Given the description of an element on the screen output the (x, y) to click on. 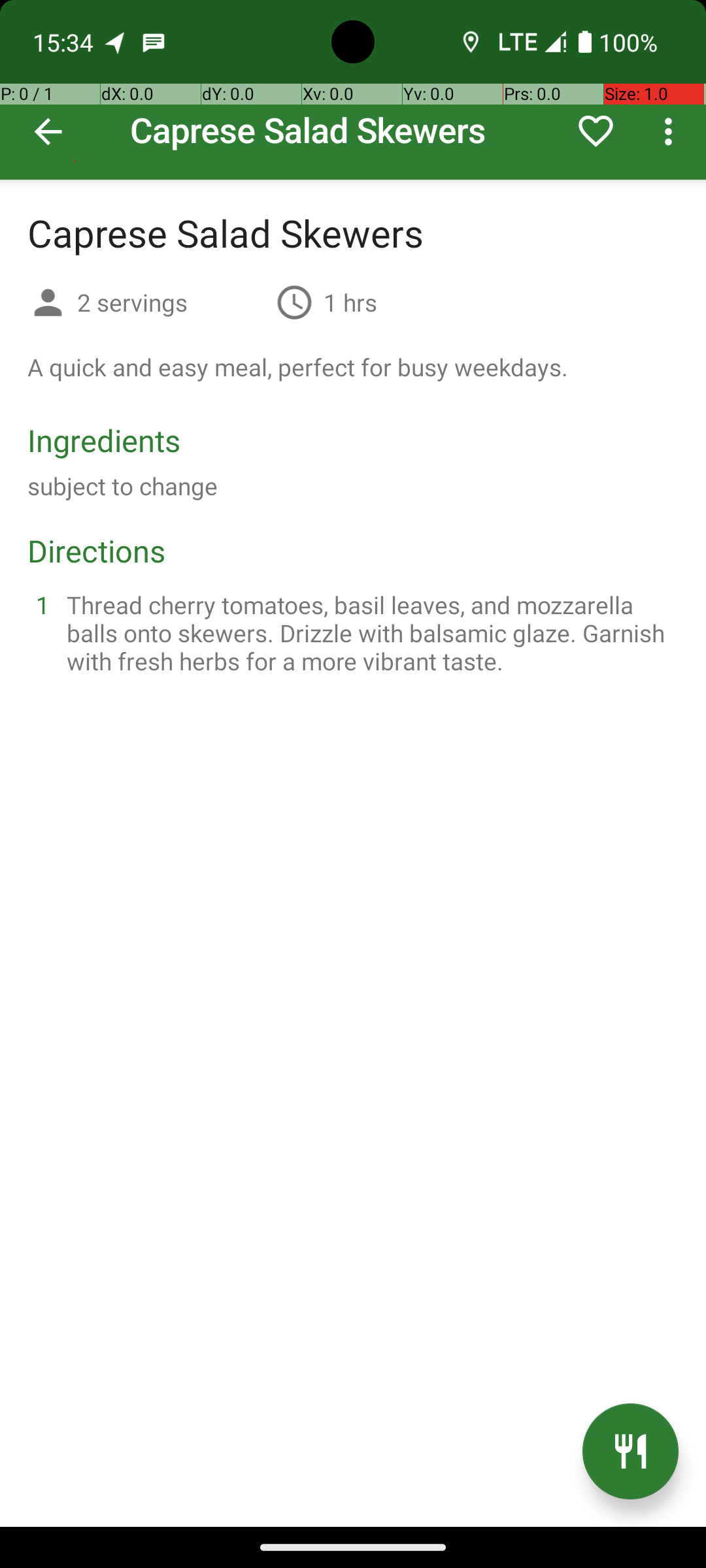
Thread cherry tomatoes, basil leaves, and mozzarella balls onto skewers. Drizzle with balsamic glaze. Garnish with fresh herbs for a more vibrant taste. Element type: android.widget.TextView (368, 632)
